Given the description of an element on the screen output the (x, y) to click on. 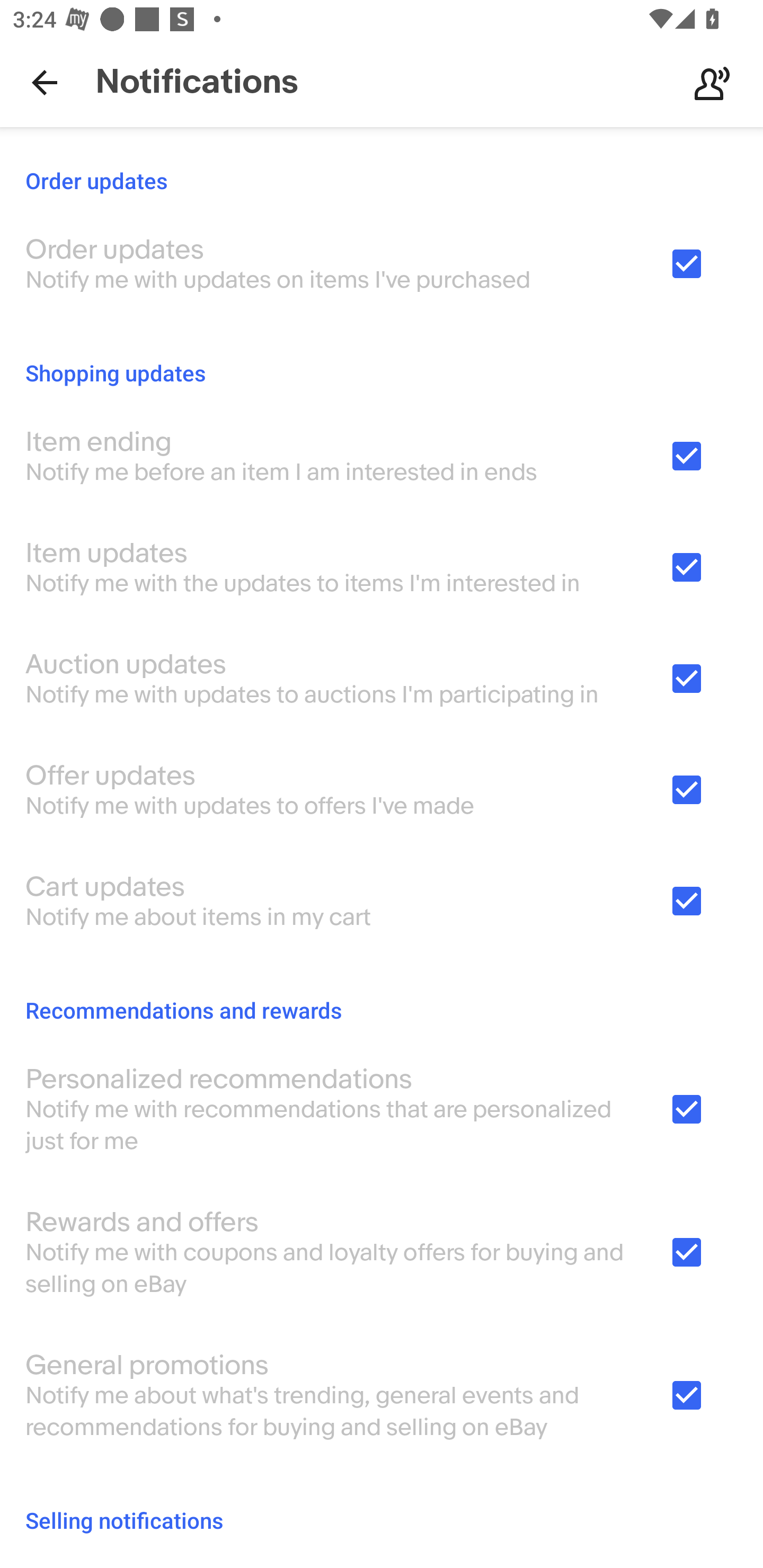
Navigate up (44, 82)
Help (711, 81)
Cart updates Notify me about items in my cart (381, 900)
